Given the description of an element on the screen output the (x, y) to click on. 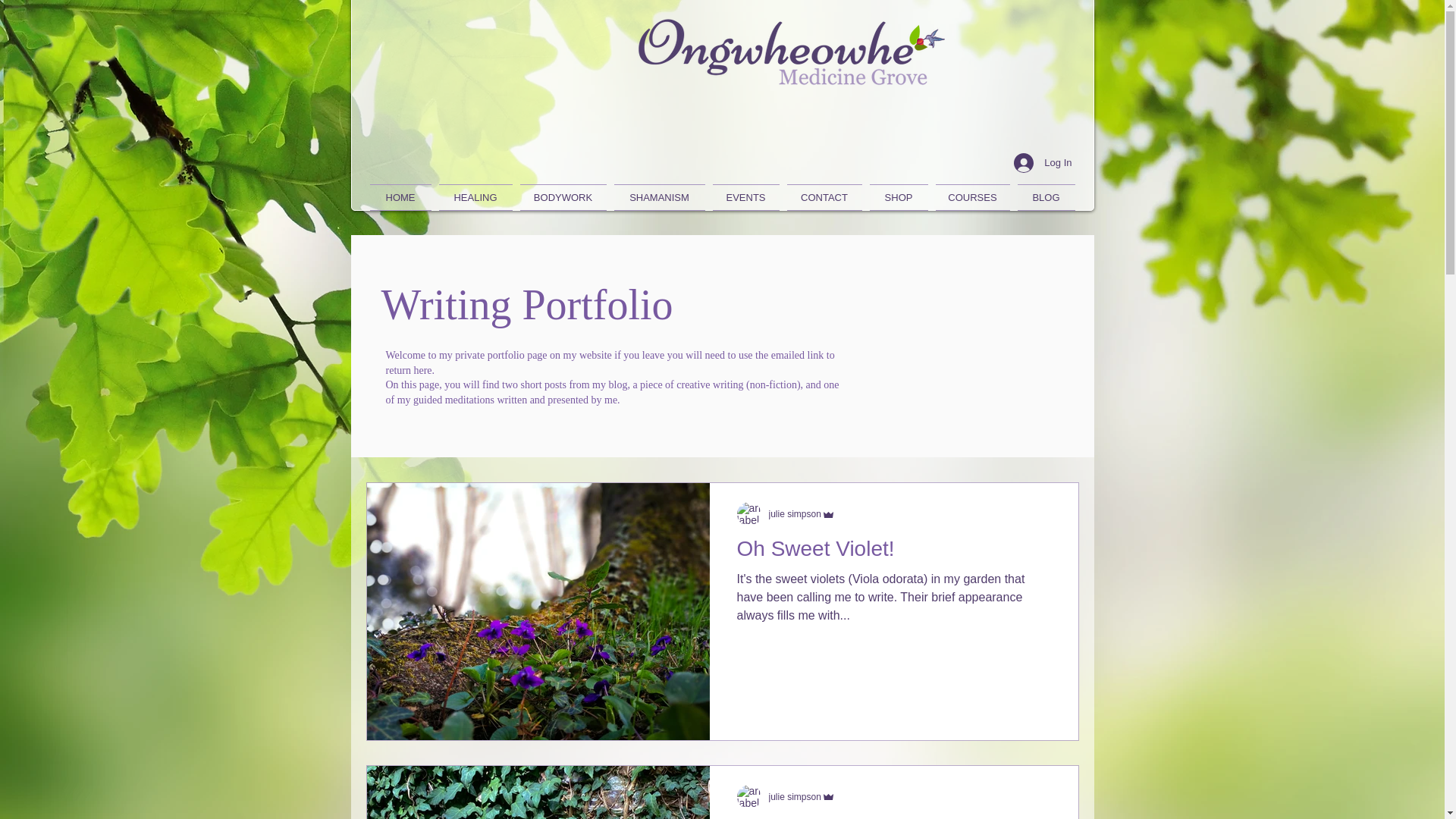
BLOG (1043, 197)
EVENTS (745, 197)
julie simpson (794, 796)
SHAMANISM (658, 197)
julie simpson (801, 796)
SHOP (898, 197)
HEALING (475, 197)
Oh Sweet Violet! (893, 553)
Log In (1042, 162)
HOME (402, 197)
CONTACT (823, 197)
julie simpson (794, 513)
julie simpson (801, 513)
COURSES (972, 197)
